Given the description of an element on the screen output the (x, y) to click on. 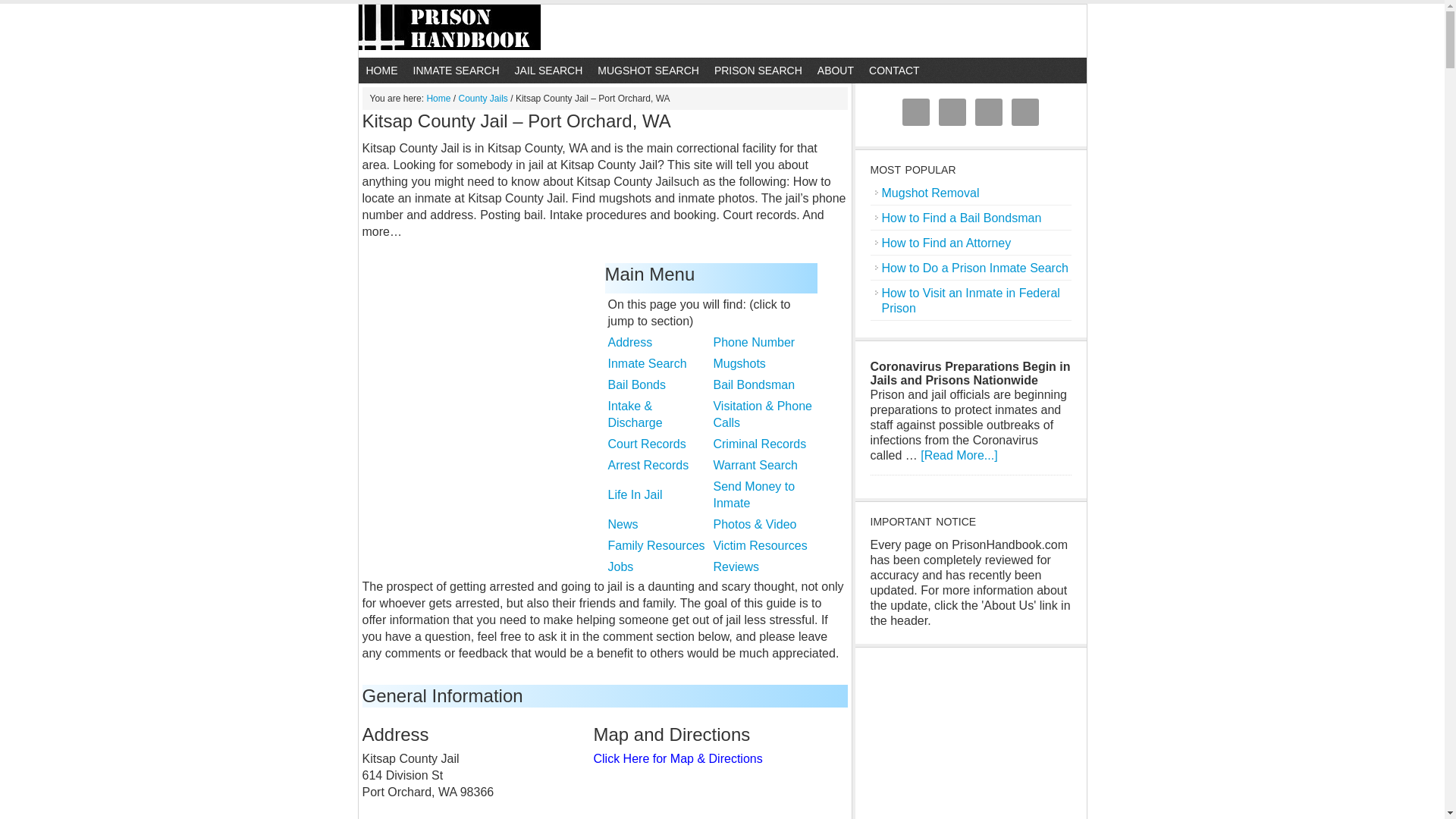
Warrant Search (754, 464)
PRISON SEARCH (757, 70)
Reviews (735, 566)
ABOUT (835, 70)
Send Money to Inmate (753, 494)
PRISON HANDBOOK (722, 30)
Home (381, 70)
Bail Bondsman (753, 384)
Advertisement (475, 353)
Court Records (646, 443)
Criminal Records (759, 443)
Jobs (620, 566)
Mugshot Search (647, 70)
Life In Jail (635, 494)
Jail Search (548, 70)
